Given the description of an element on the screen output the (x, y) to click on. 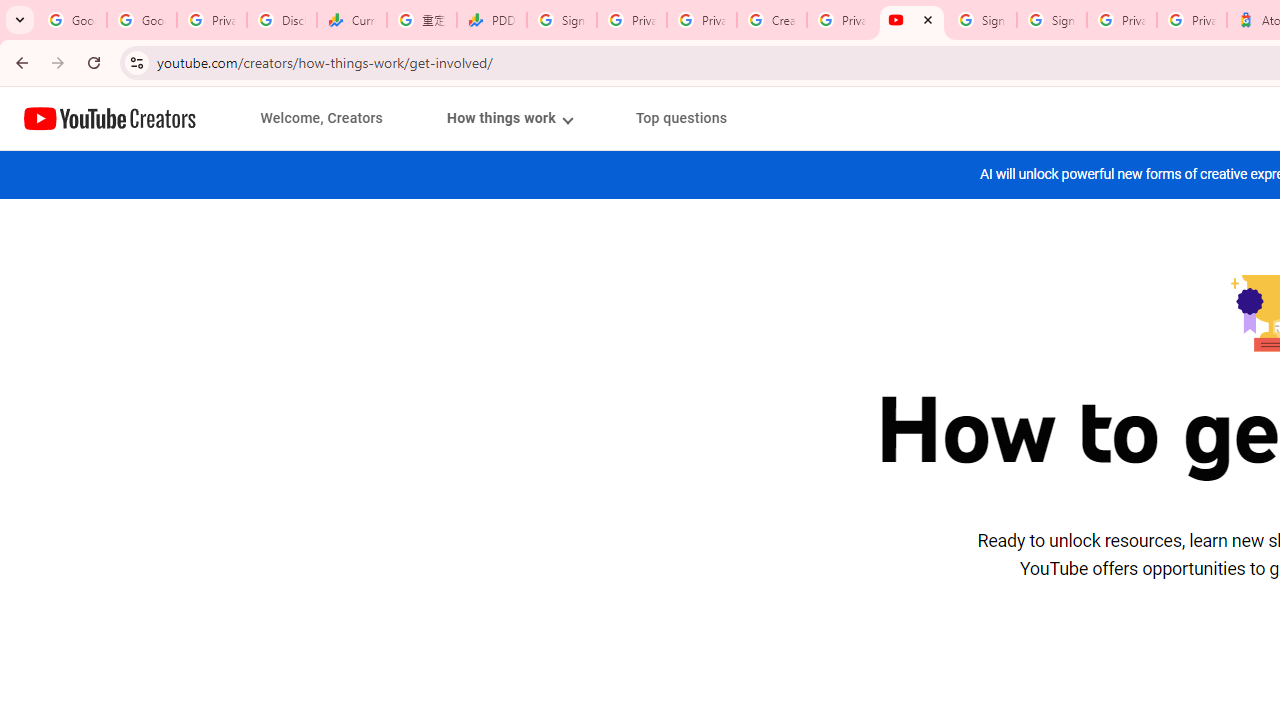
Sign in - Google Accounts (1051, 20)
JUMP TO CONTENT (209, 119)
Currencies - Google Finance (351, 20)
PDD Holdings Inc - ADR (PDD) Price & News - Google Finance (492, 20)
1 (509, 118)
Sign in - Google Accounts (982, 20)
